Given the description of an element on the screen output the (x, y) to click on. 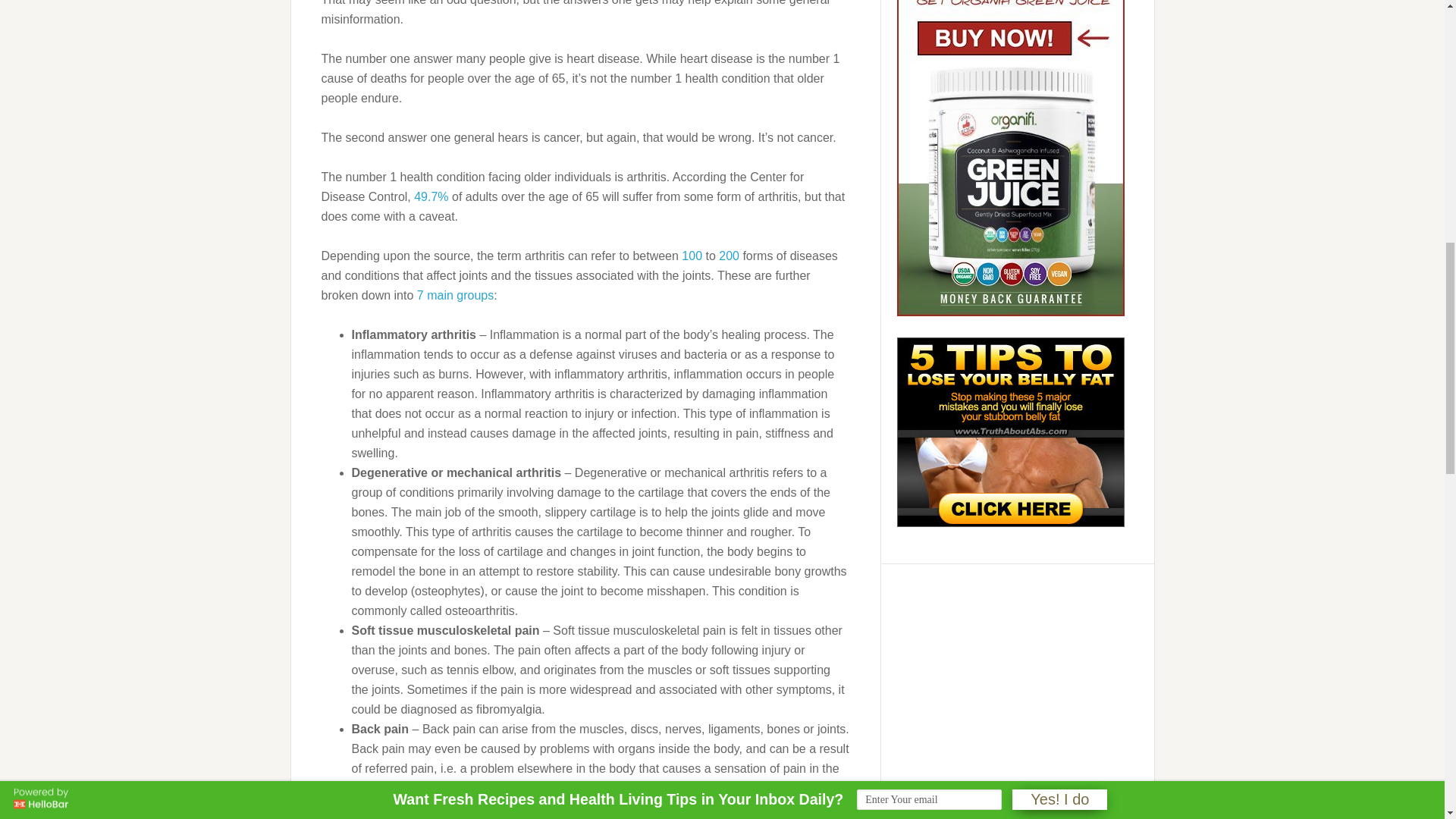
7 main groups (454, 295)
100 (691, 255)
200 (729, 255)
